Given the description of an element on the screen output the (x, y) to click on. 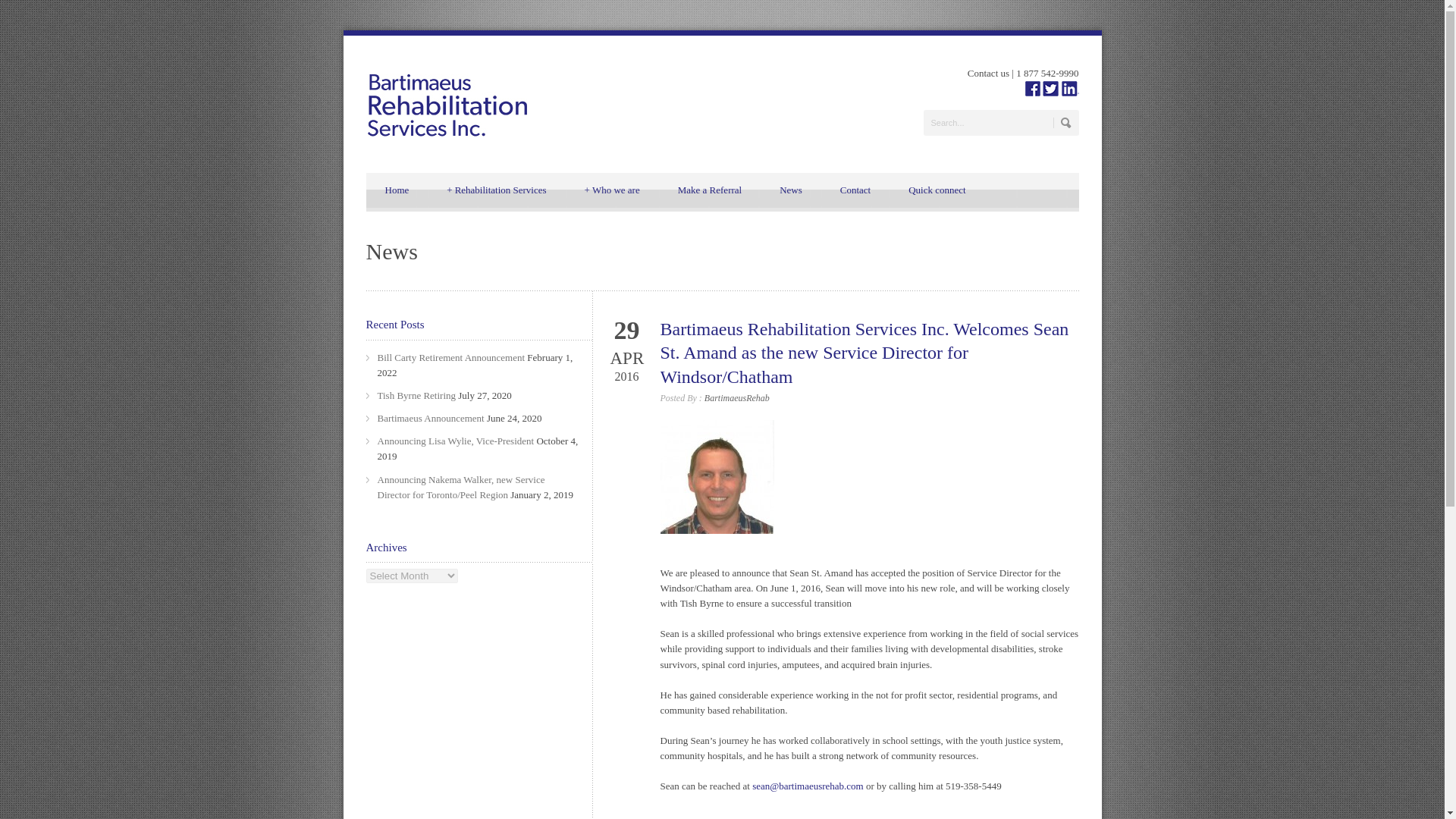
Contact (855, 190)
Make a Referral (709, 190)
News (790, 190)
Search... (1000, 122)
Home (396, 190)
Quick connect (936, 190)
Posts by BartimaeusRehab (737, 398)
BartimaeusRehab (737, 398)
